Given the description of an element on the screen output the (x, y) to click on. 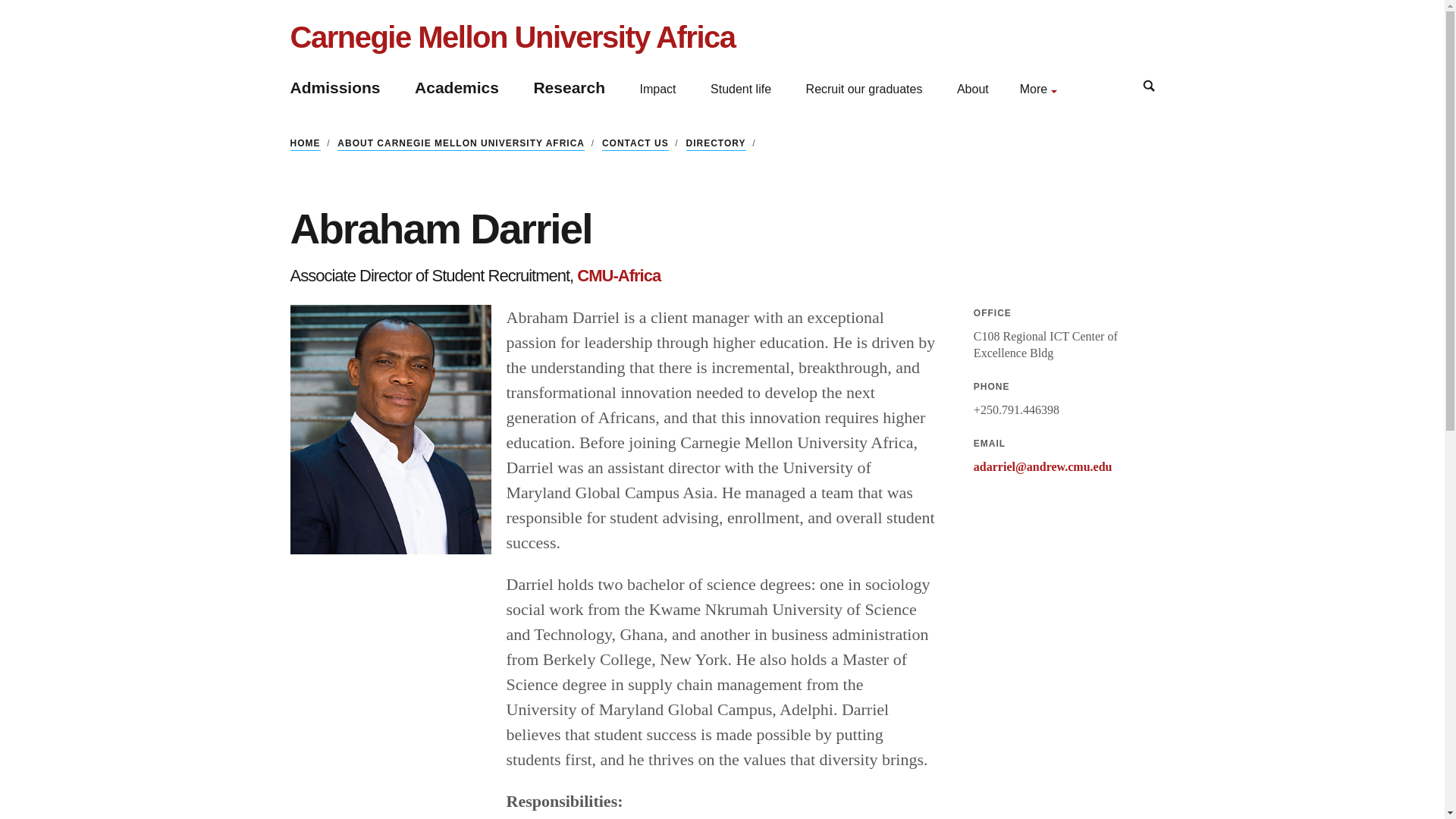
Research (568, 87)
Admissions (334, 87)
About (972, 88)
Recruit our graduates (864, 88)
Impact (658, 88)
HOME (304, 144)
ABOUT CARNEGIE MELLON UNIVERSITY AFRICA (461, 144)
More (1038, 88)
Carnegie Mellon University Africa (512, 36)
CMU-Africa (618, 275)
